Given the description of an element on the screen output the (x, y) to click on. 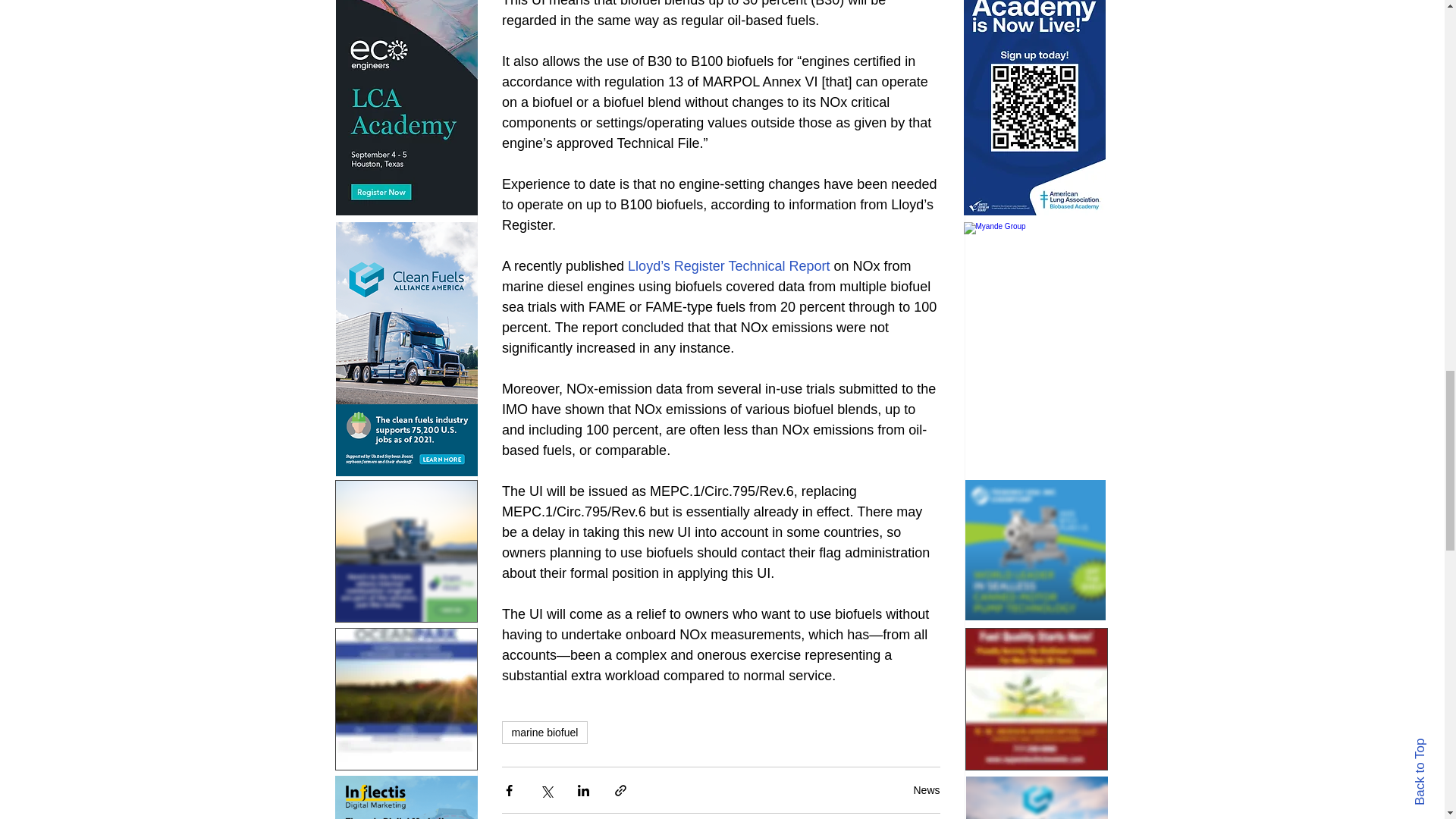
Clean Fuels Alliance America (405, 348)
Inflectis Digital Marketing  (405, 797)
R.W. Heiden Associates LLC (1034, 699)
News (925, 789)
Engine Technology Forum (405, 550)
marine biofuel (545, 732)
Clean Fuels Alliance America (1037, 797)
